Given the description of an element on the screen output the (x, y) to click on. 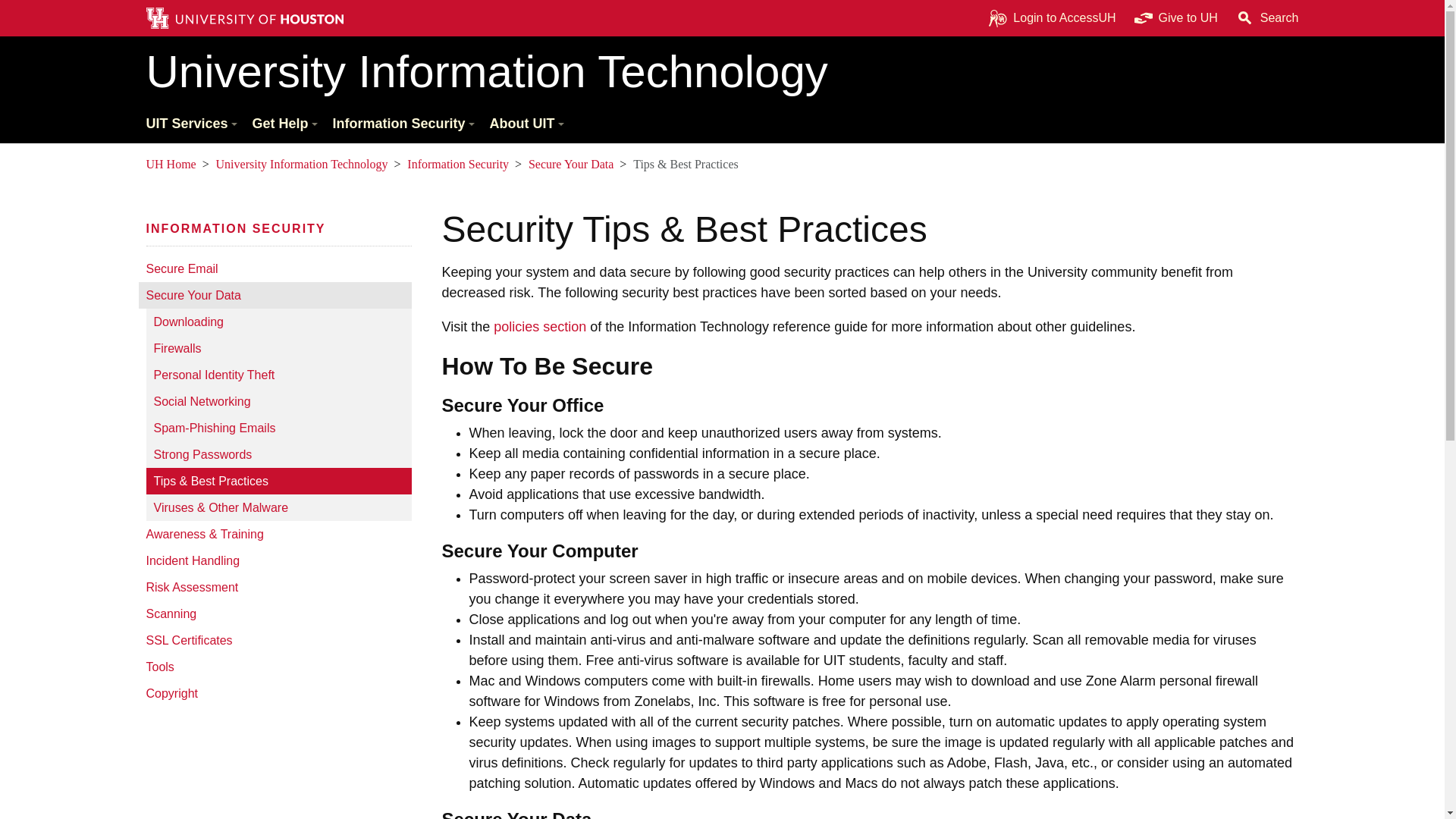
Information Security (401, 123)
Spam-Phishing Emails (277, 427)
Personal Identity Theft (277, 374)
UIT Services (189, 123)
University Information Technology (721, 71)
Firewalls (277, 347)
Downloading (277, 321)
Secure Email (274, 268)
Secure Your Data (274, 294)
Incident Handling (274, 560)
